Given the description of an element on the screen output the (x, y) to click on. 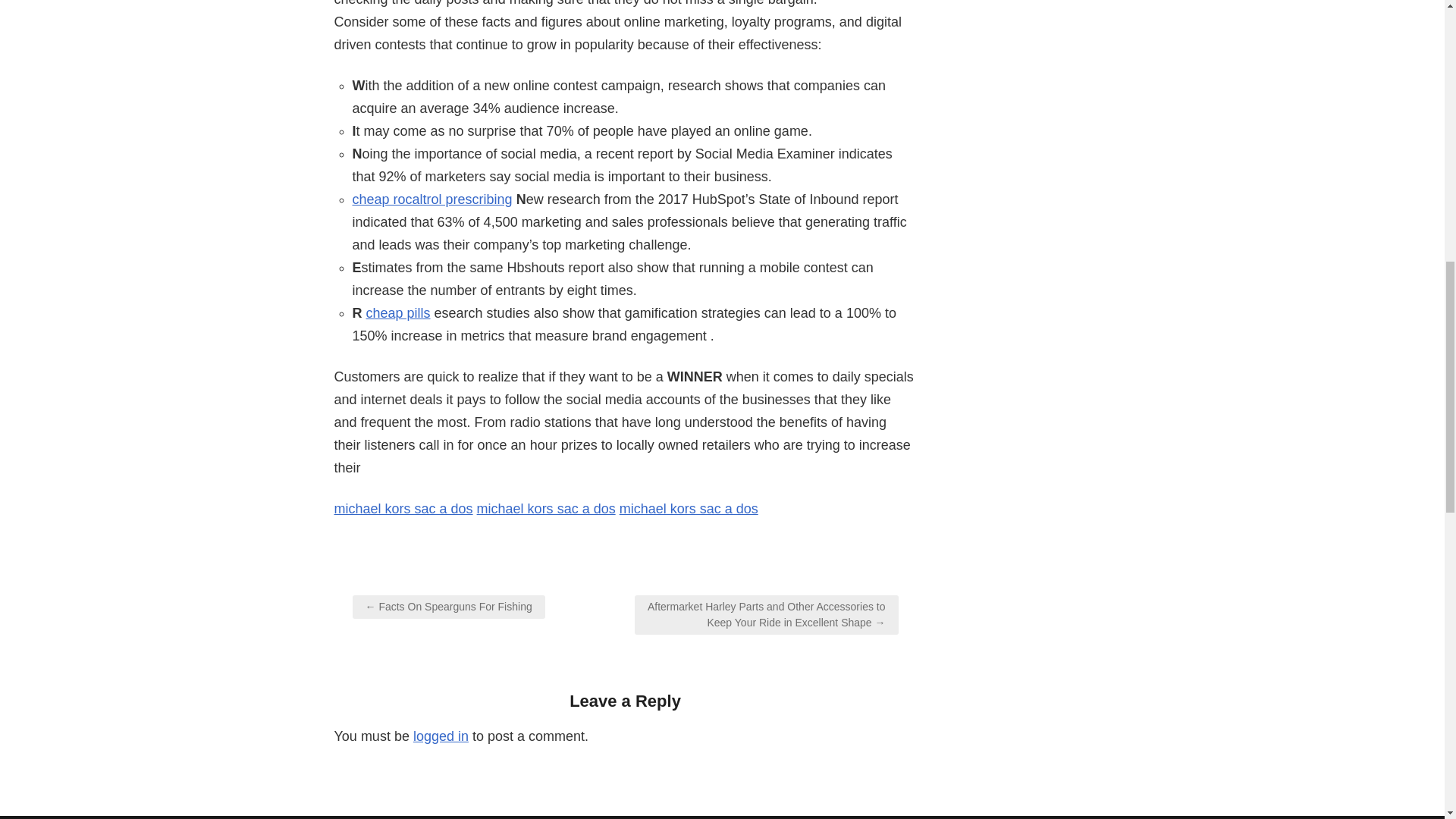
michael kors sac a dos (546, 508)
logged in (440, 735)
cheap pills (398, 313)
michael kors sac a dos (402, 508)
michael kors sac a dos (689, 508)
cheap rocaltrol prescribing (432, 199)
